Given the description of an element on the screen output the (x, y) to click on. 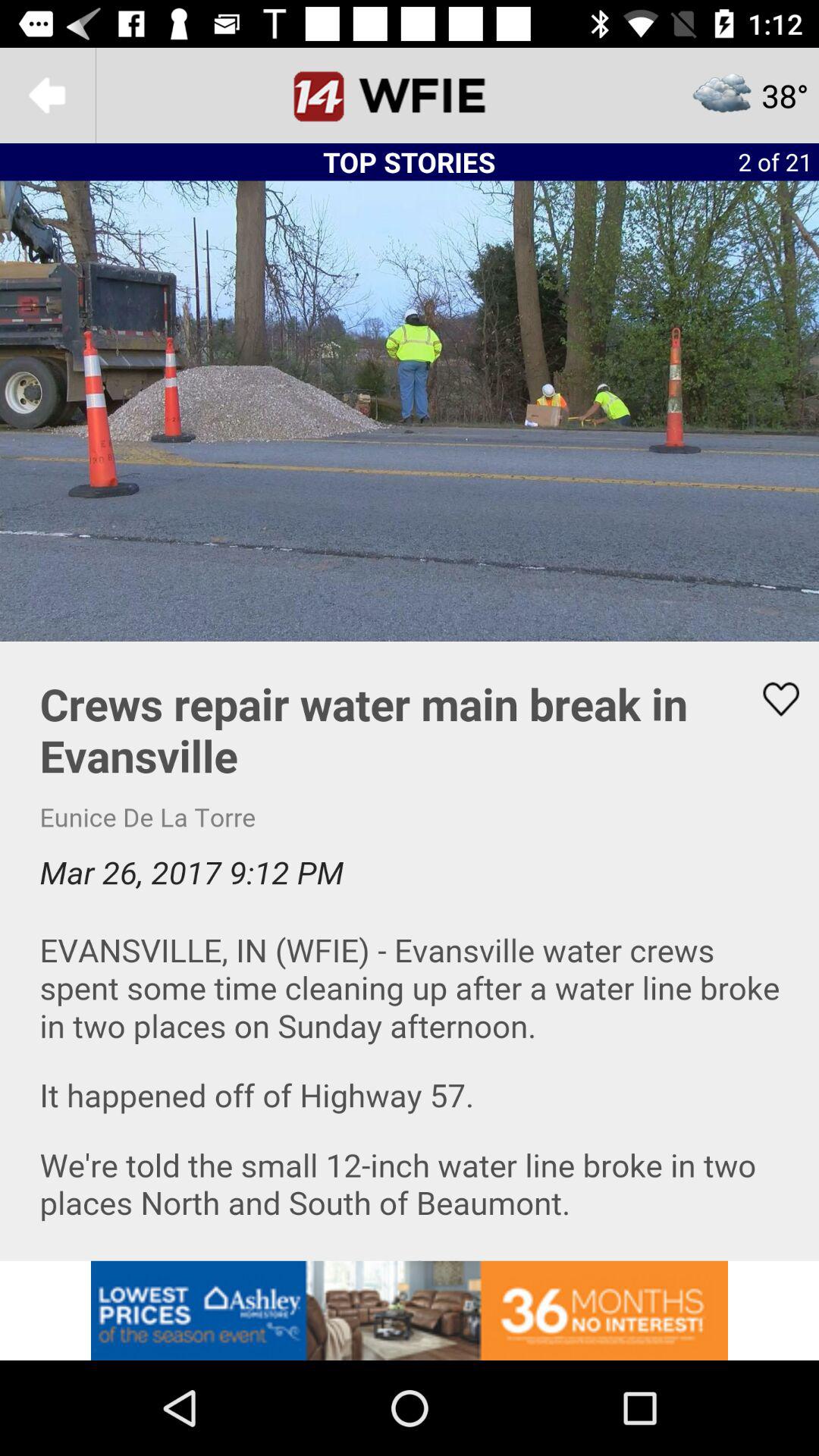
go to previous (47, 95)
